Given the description of an element on the screen output the (x, y) to click on. 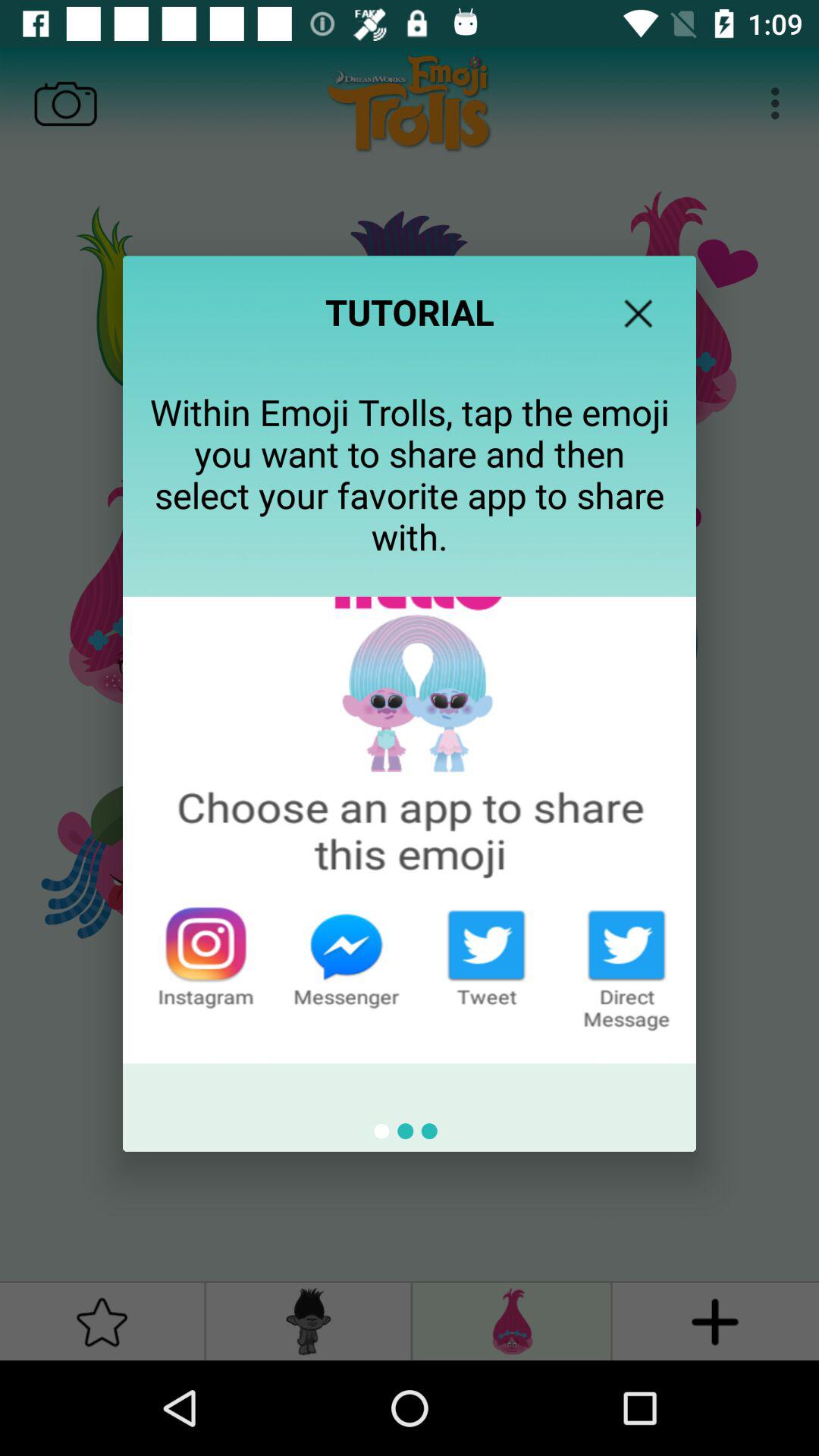
press the icon above the within emoji trolls icon (638, 313)
